Given the description of an element on the screen output the (x, y) to click on. 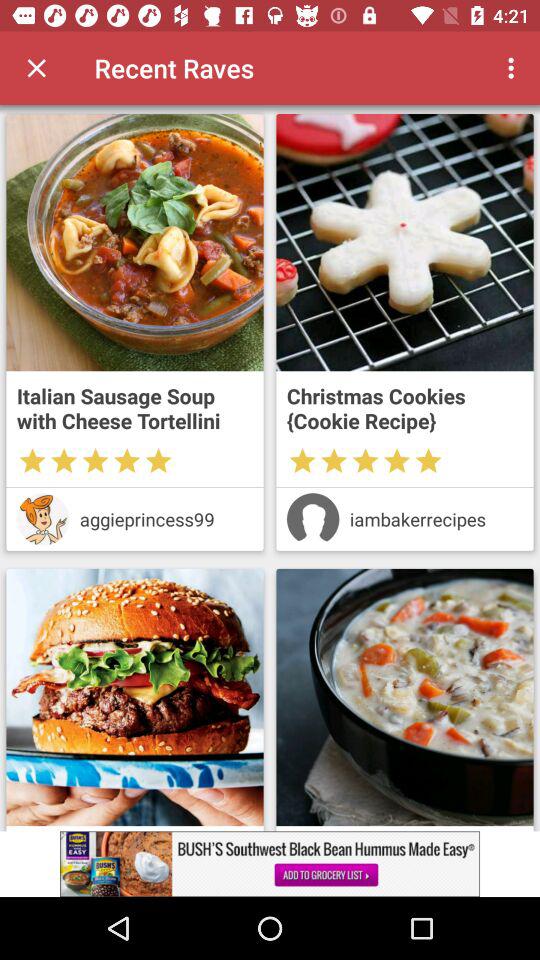
add banner (270, 864)
